Given the description of an element on the screen output the (x, y) to click on. 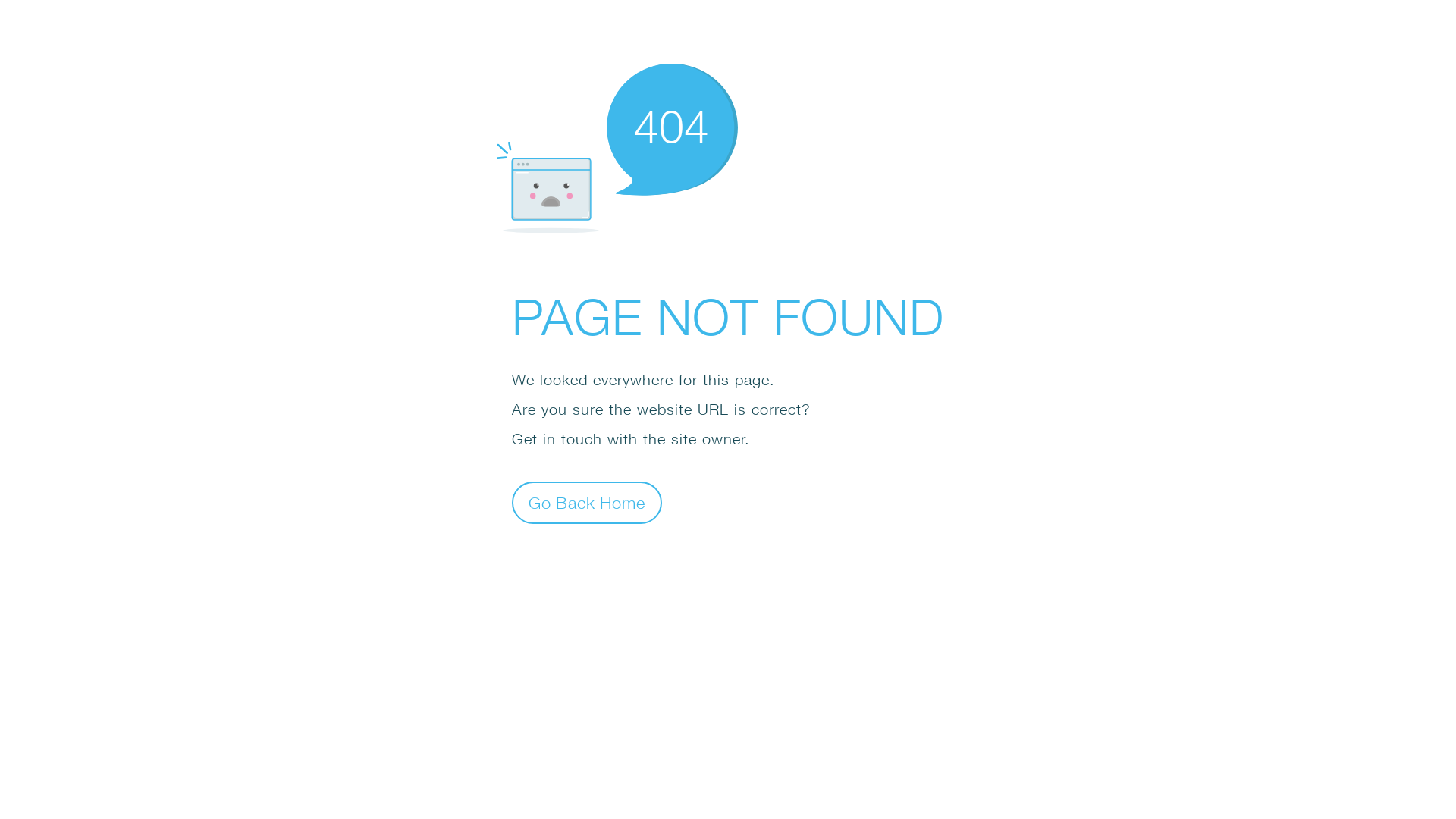
Go Back Home Element type: text (586, 502)
